Given the description of an element on the screen output the (x, y) to click on. 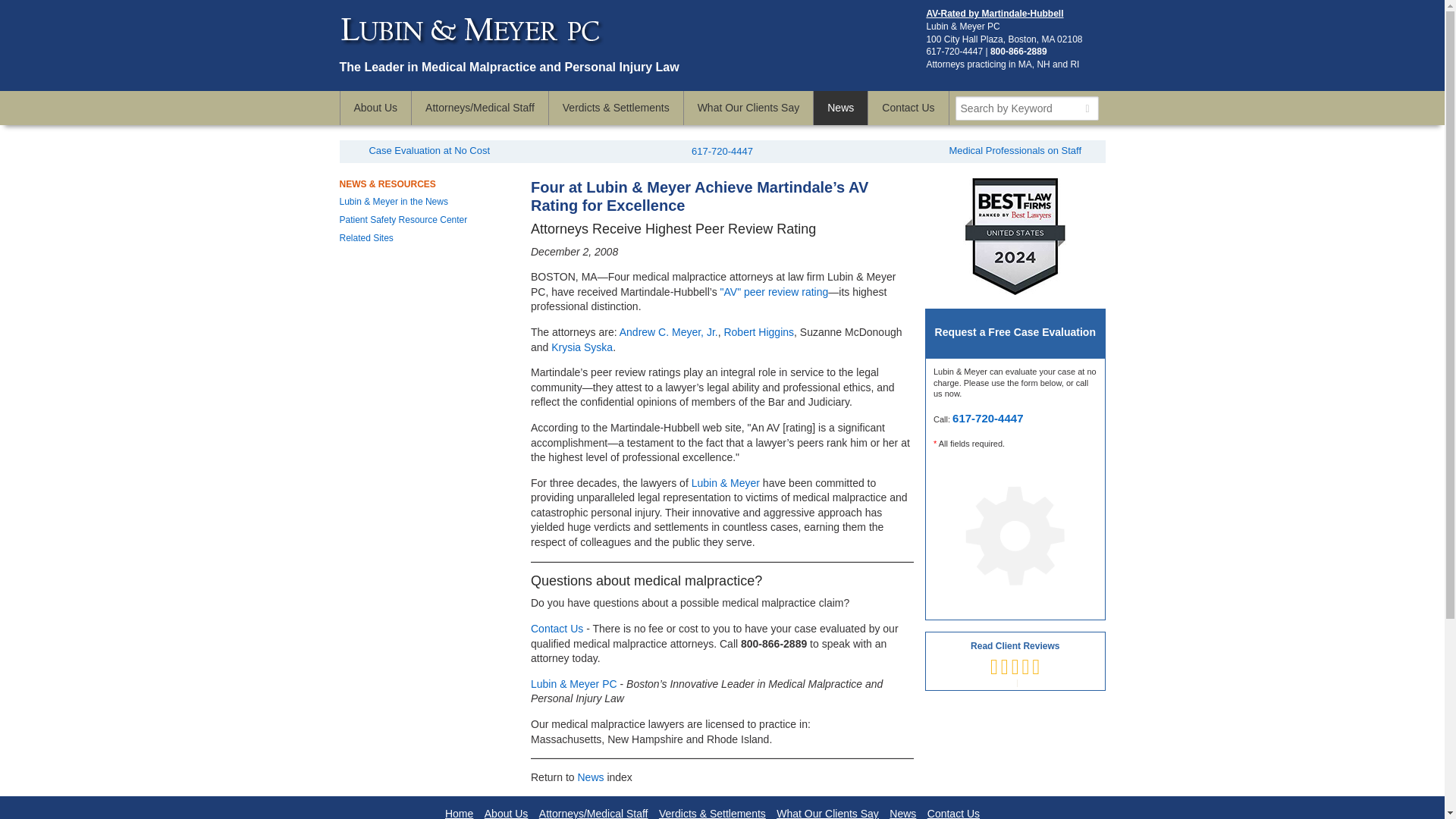
"AV" peer review rating (774, 291)
617-720-4447 (987, 418)
Robert Higgins (758, 331)
News (840, 107)
Contact Us (557, 628)
About Us (374, 107)
Related Sites (366, 237)
About Us (506, 813)
Case Evaluation at No Cost (428, 150)
Read Client Reviews (1014, 660)
Andrew C. Meyer, Jr. (668, 331)
Patient Safety Resource Center (403, 219)
Krysia Syska (581, 346)
Home (459, 813)
What Our Clients Say (748, 107)
